Given the description of an element on the screen output the (x, y) to click on. 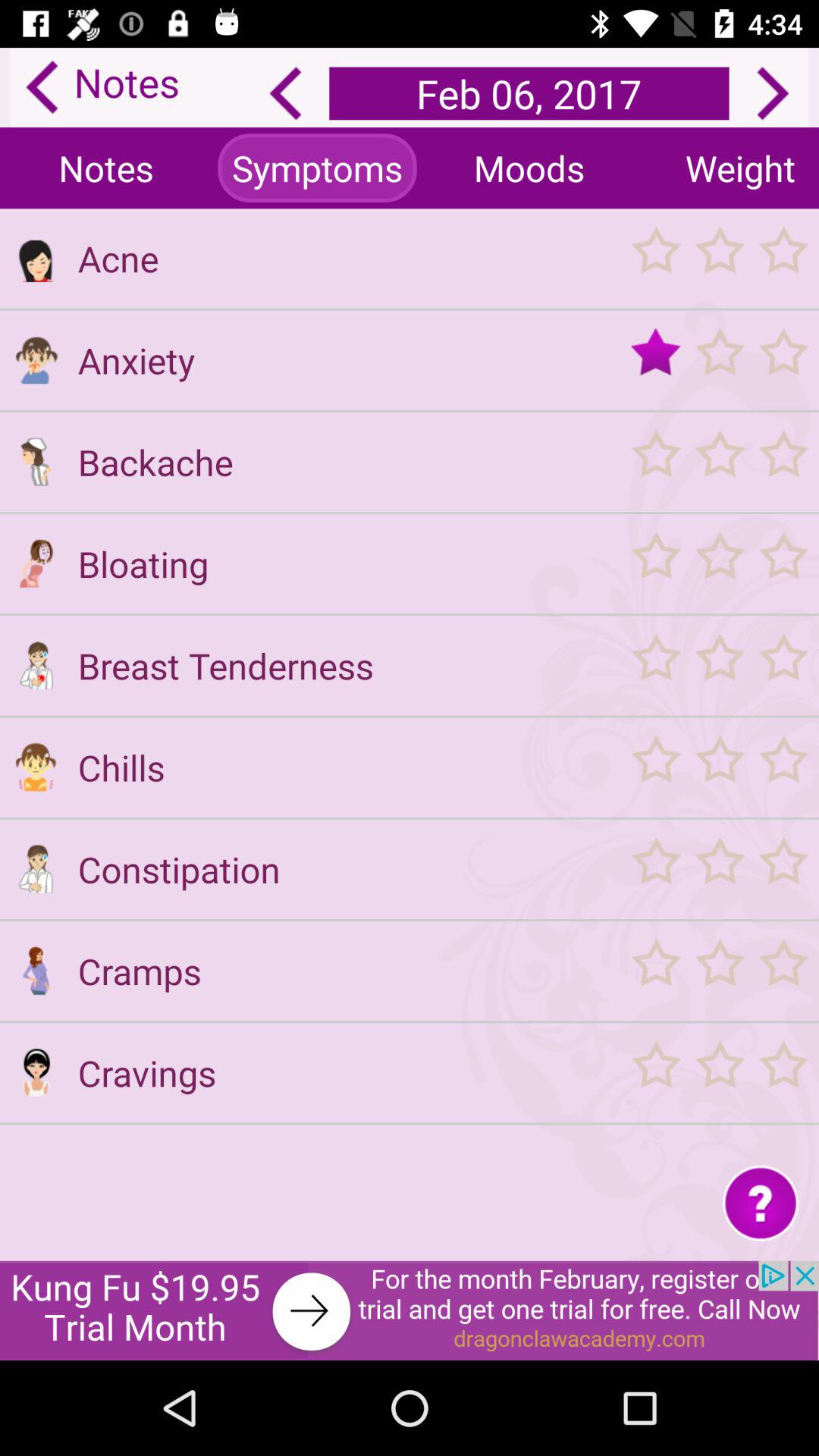
go to previous day 's notes (285, 93)
